Given the description of an element on the screen output the (x, y) to click on. 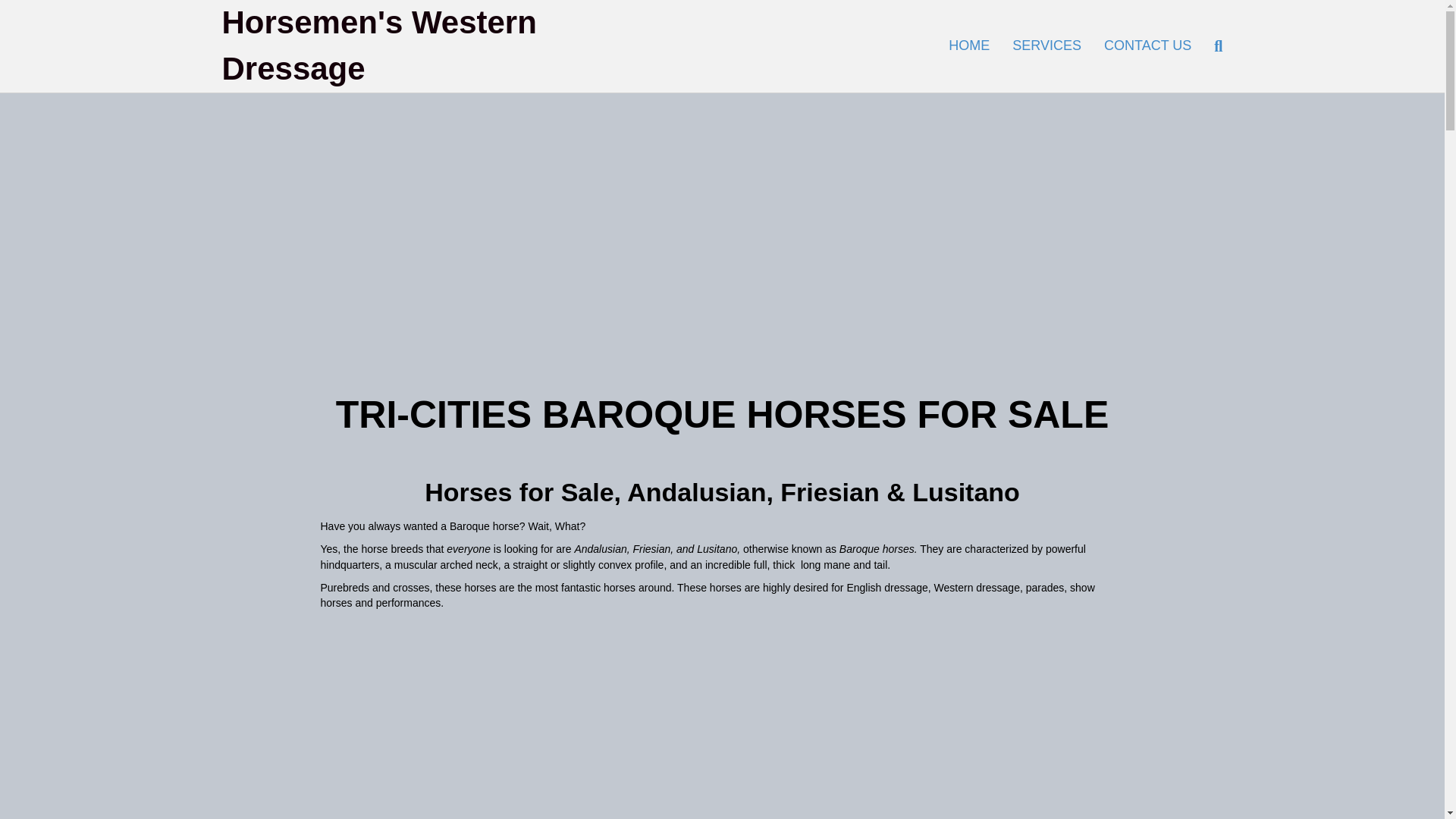
HOME (969, 45)
SERVICES (1047, 45)
Horsemen's Western Dressage (382, 46)
CONTACT US (1147, 45)
